Given the description of an element on the screen output the (x, y) to click on. 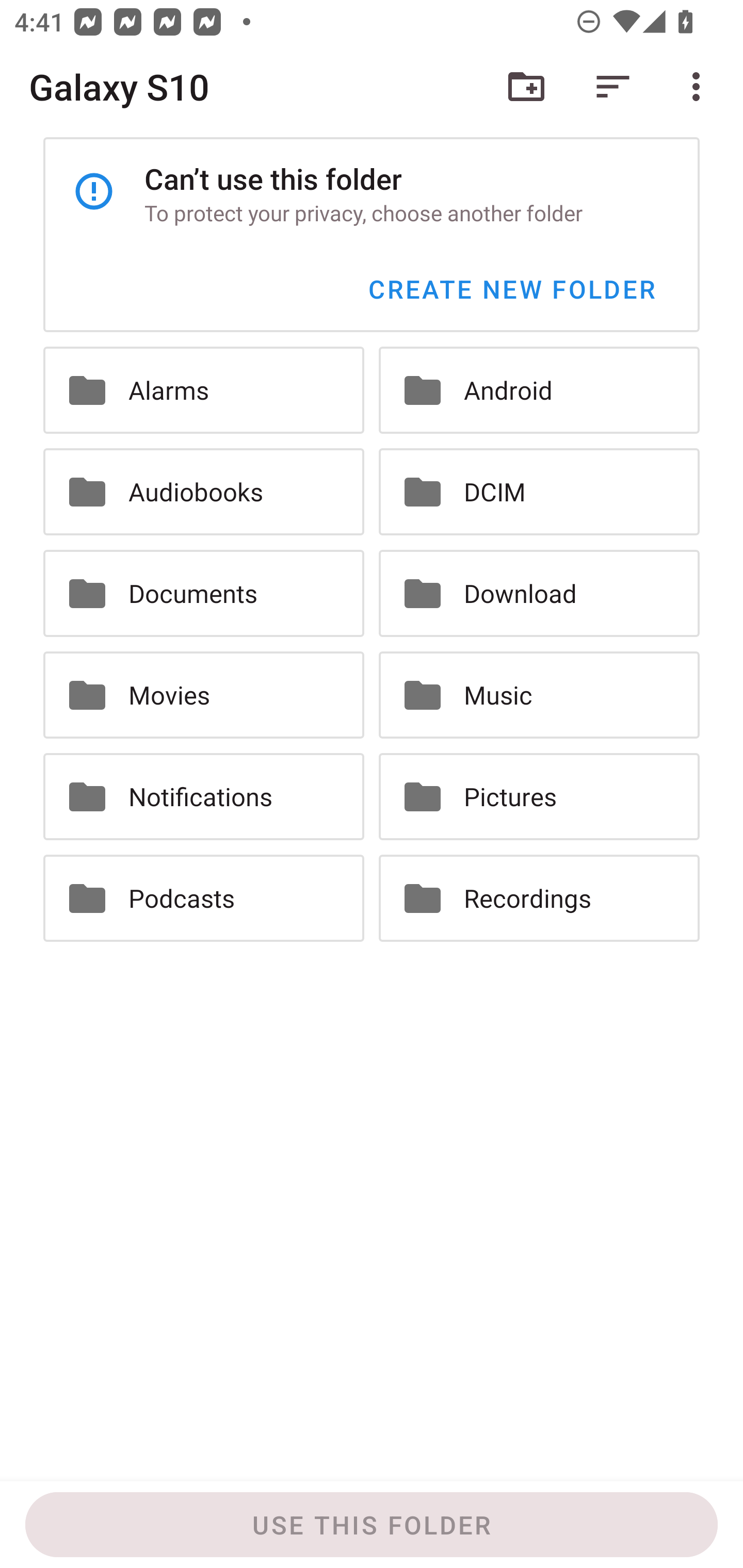
New folder (525, 86)
Sort by... (612, 86)
More options (699, 86)
CREATE NEW FOLDER (511, 289)
Alarms (203, 390)
Android (538, 390)
Audiobooks (203, 491)
DCIM (538, 491)
Documents (203, 593)
Download (538, 593)
Movies (203, 694)
Music (538, 694)
Notifications (203, 796)
Pictures (538, 796)
Podcasts (203, 898)
Recordings (538, 898)
USE THIS FOLDER (371, 1524)
